Given the description of an element on the screen output the (x, y) to click on. 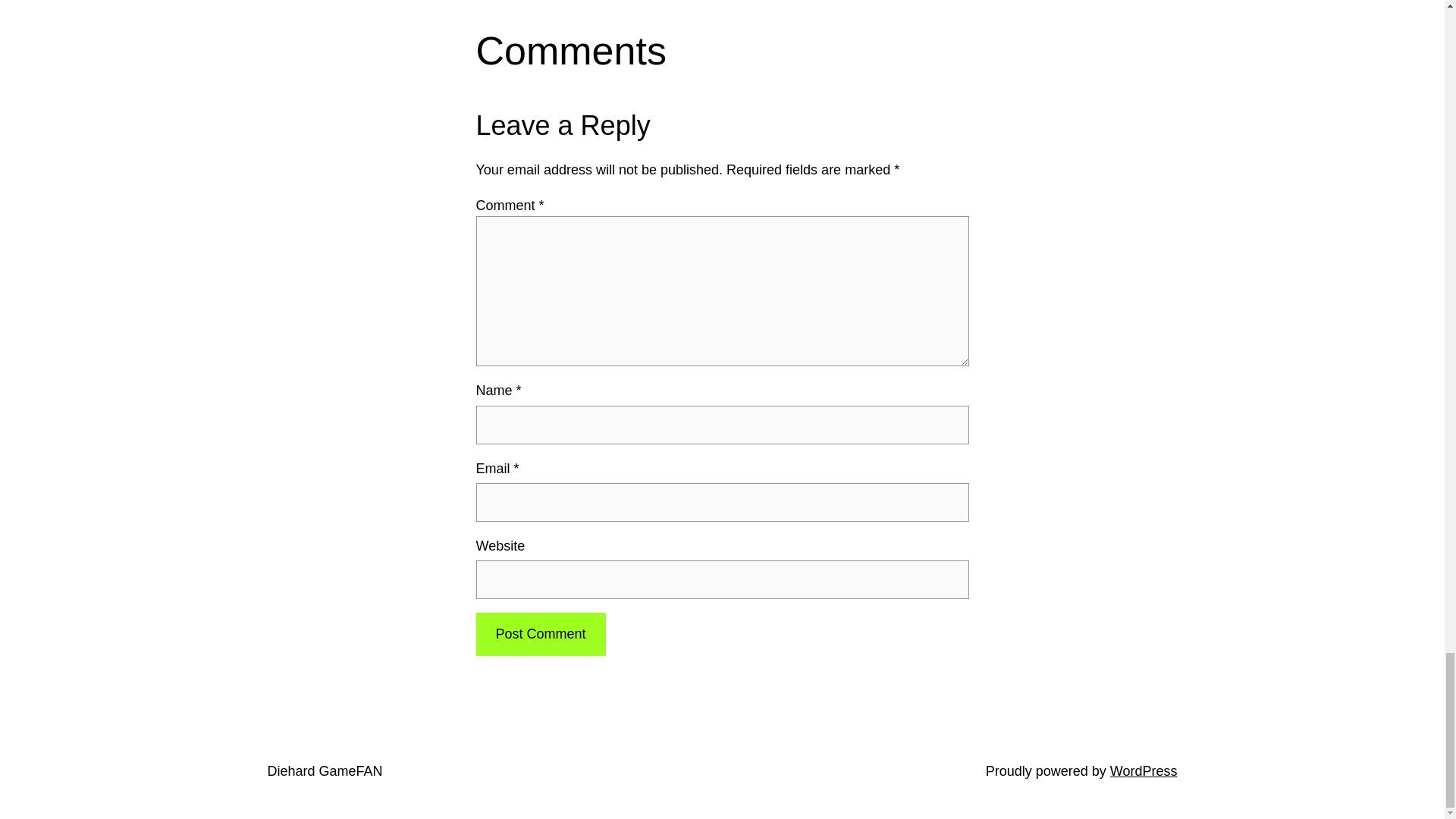
Post Comment (540, 634)
Post Comment (540, 634)
